Given the description of an element on the screen output the (x, y) to click on. 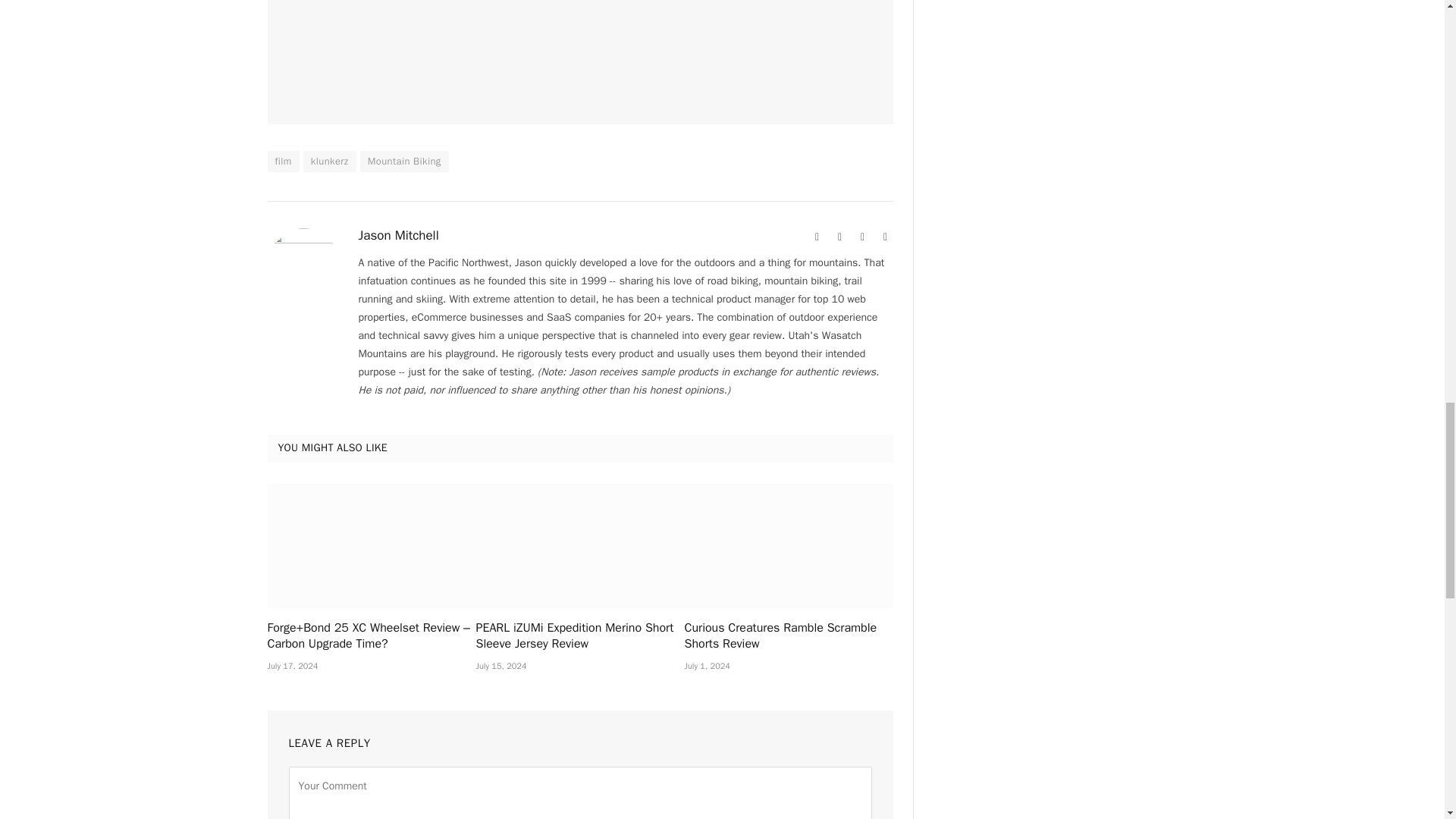
Website (817, 237)
Mountain Biking (403, 160)
Website (817, 237)
Instagram (863, 237)
Posts by Jason Mitchell (398, 235)
PEARL iZUMi Expedition Merino Short Sleeve Jersey Review (580, 546)
Instagram (863, 237)
Jason Mitchell (398, 235)
LinkedIn (885, 237)
klunkerz (329, 160)
LinkedIn (885, 237)
film (282, 160)
